Given the description of an element on the screen output the (x, y) to click on. 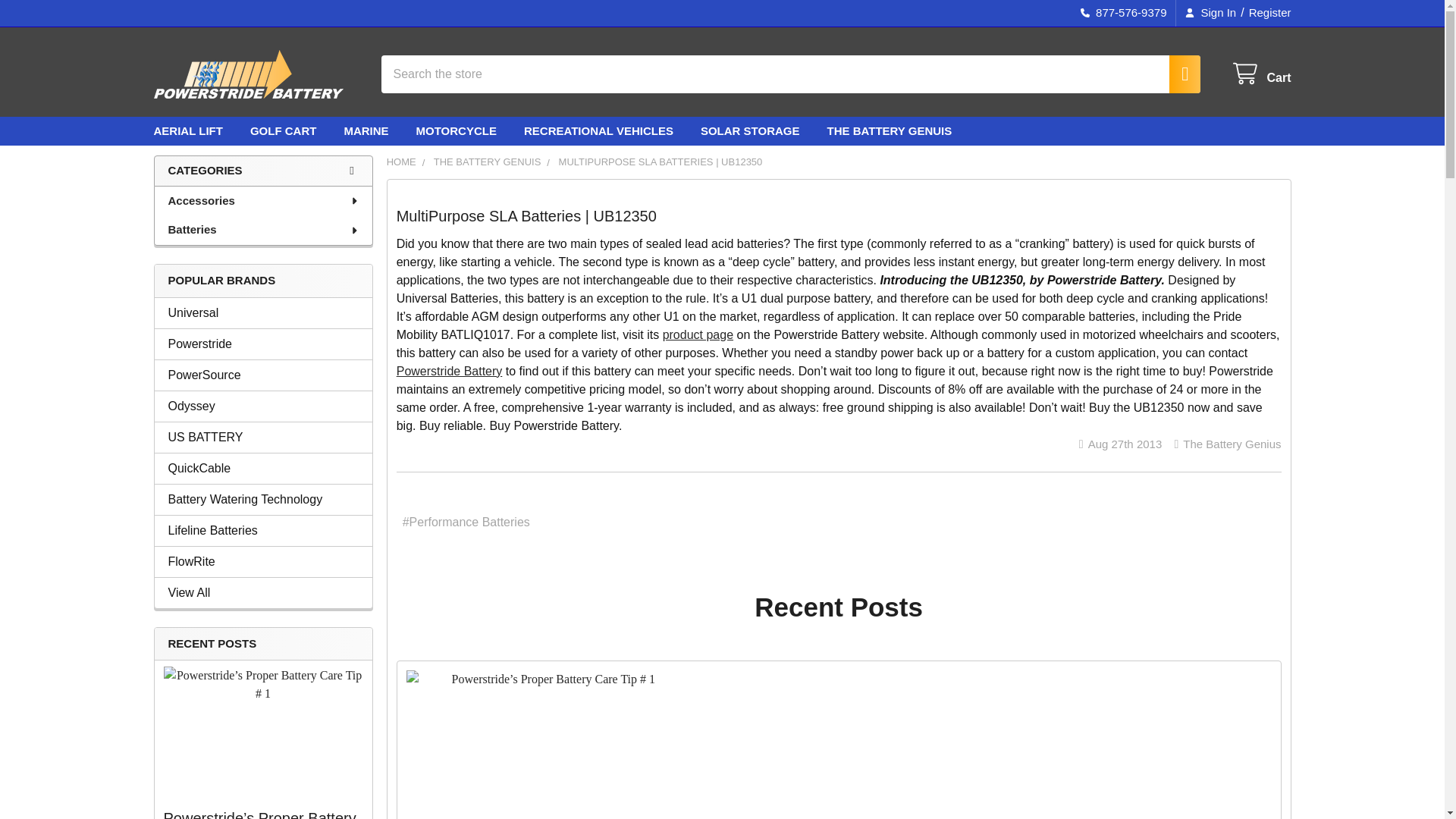
Cart (1260, 73)
QuickCable (263, 468)
Search (1176, 74)
Register (1265, 13)
Battery Watering Technology (263, 498)
Sign In (1210, 13)
FlowRite (263, 561)
Lifeline Batteries (263, 530)
PowerSource (263, 374)
877-576-9379 (1122, 13)
